Given the description of an element on the screen output the (x, y) to click on. 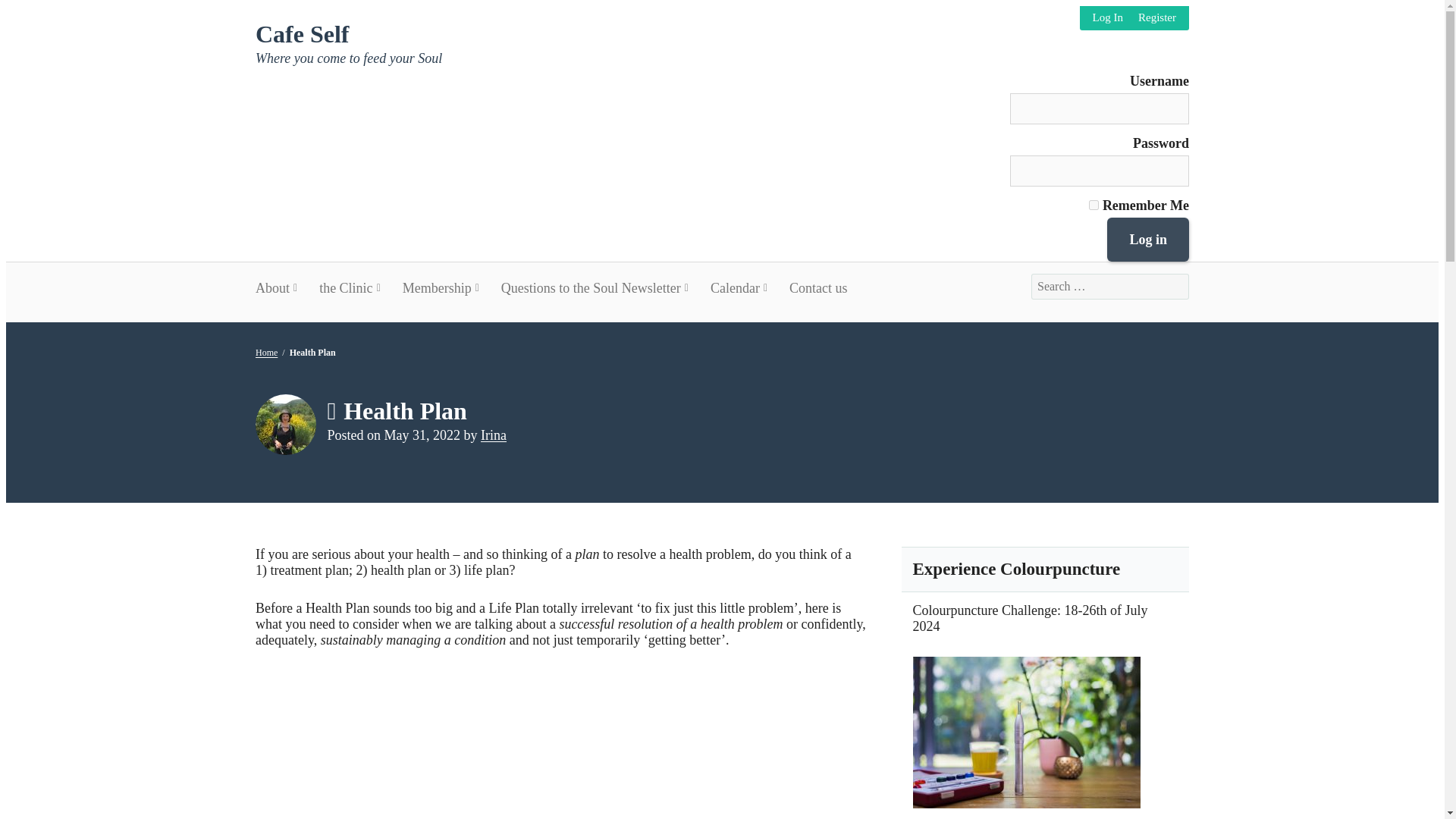
Log in (1147, 239)
Membership (440, 287)
forever (1094, 204)
Log in (1147, 239)
Register (1157, 18)
Log In (1107, 18)
Cafe Self (302, 32)
YouTube video player (467, 744)
Calendar (737, 287)
About (282, 287)
the Clinic (349, 287)
Questions to the Soul Newsletter (593, 287)
